Given the description of an element on the screen output the (x, y) to click on. 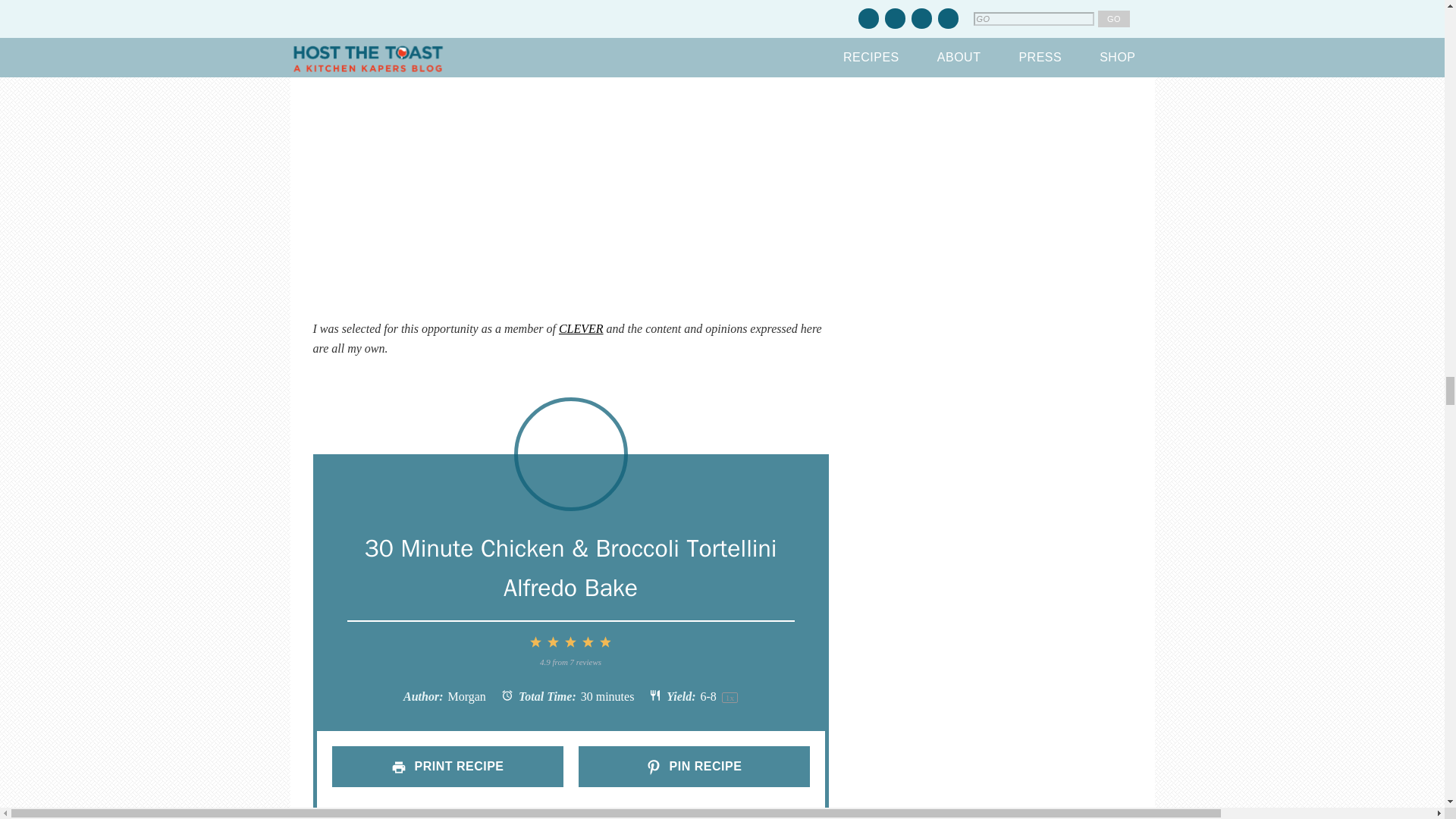
PRINT RECIPE (447, 766)
CLEVER (581, 328)
PIN RECIPE (693, 766)
